Given the description of an element on the screen output the (x, y) to click on. 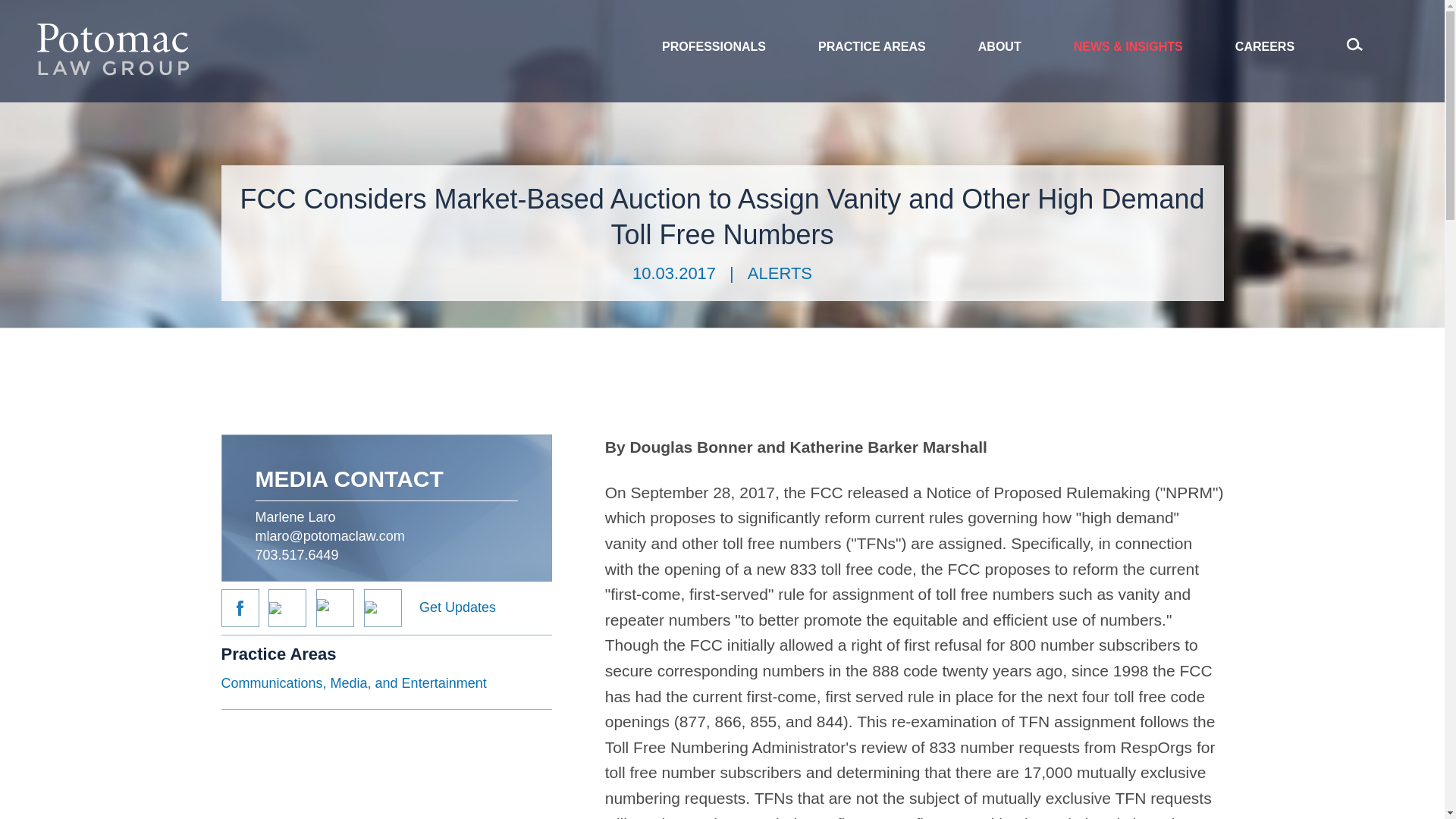
Menu (671, 20)
Facebook (240, 607)
LinkedIn (334, 607)
Main Content (663, 20)
PROFESSIONALS (713, 46)
Twitter (286, 607)
Main Menu (671, 20)
Communications, Media, and Entertainment (353, 683)
ABOUT (999, 46)
CAREERS (1264, 46)
